Given the description of an element on the screen output the (x, y) to click on. 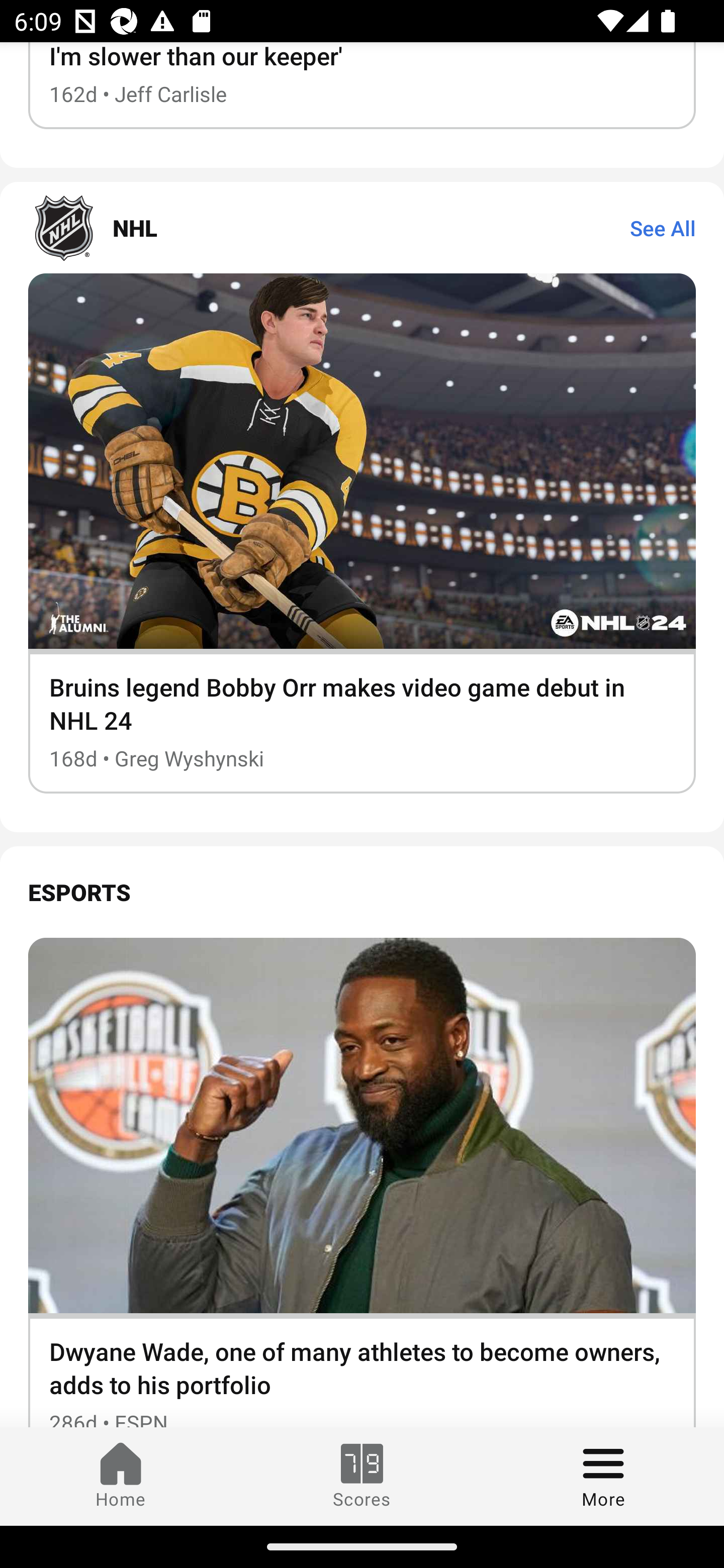
NHL See All (362, 226)
Home (120, 1475)
Scores (361, 1475)
